Given the description of an element on the screen output the (x, y) to click on. 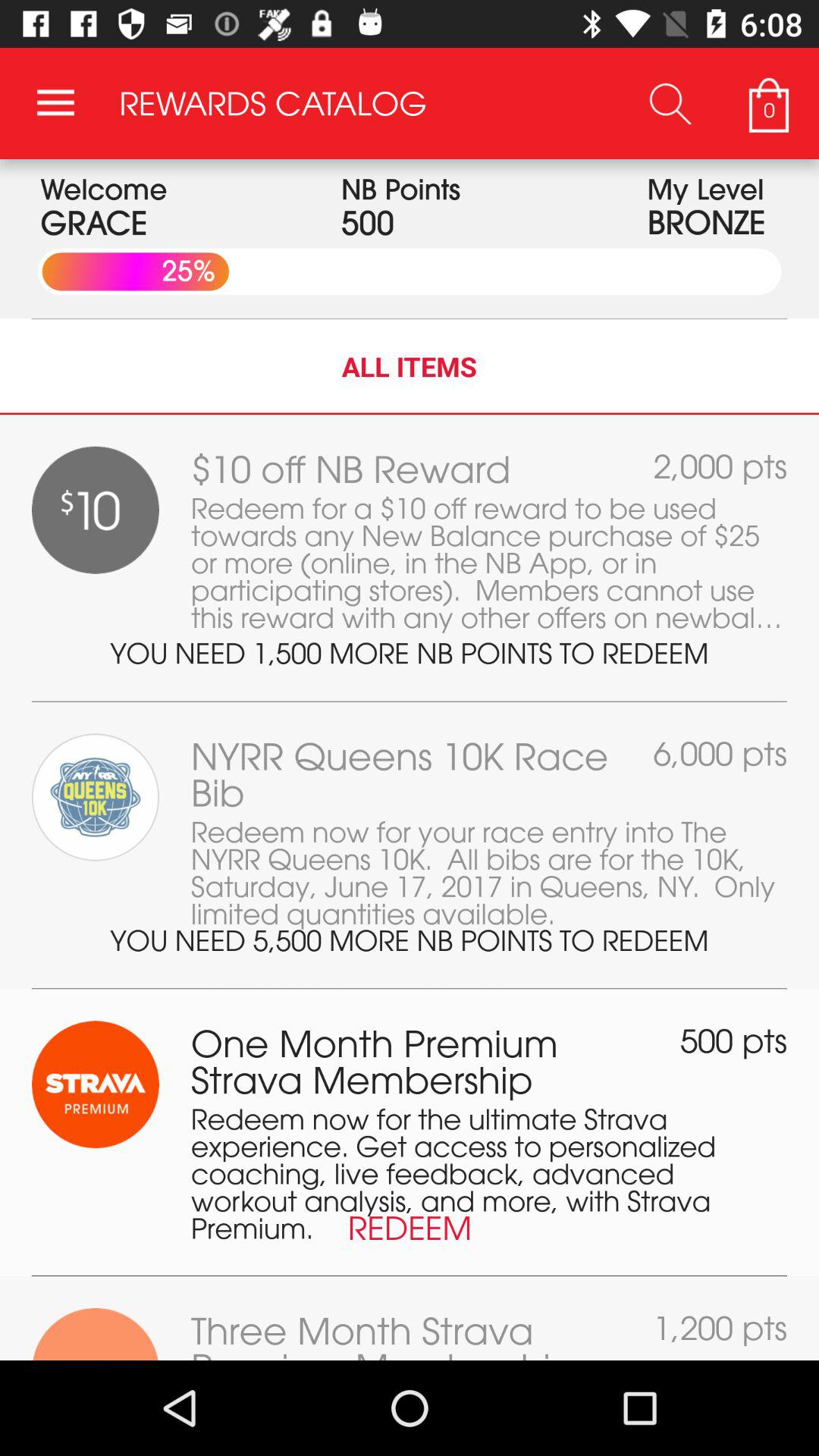
press the app to the left of rewards catalog item (55, 103)
